Given the description of an element on the screen output the (x, y) to click on. 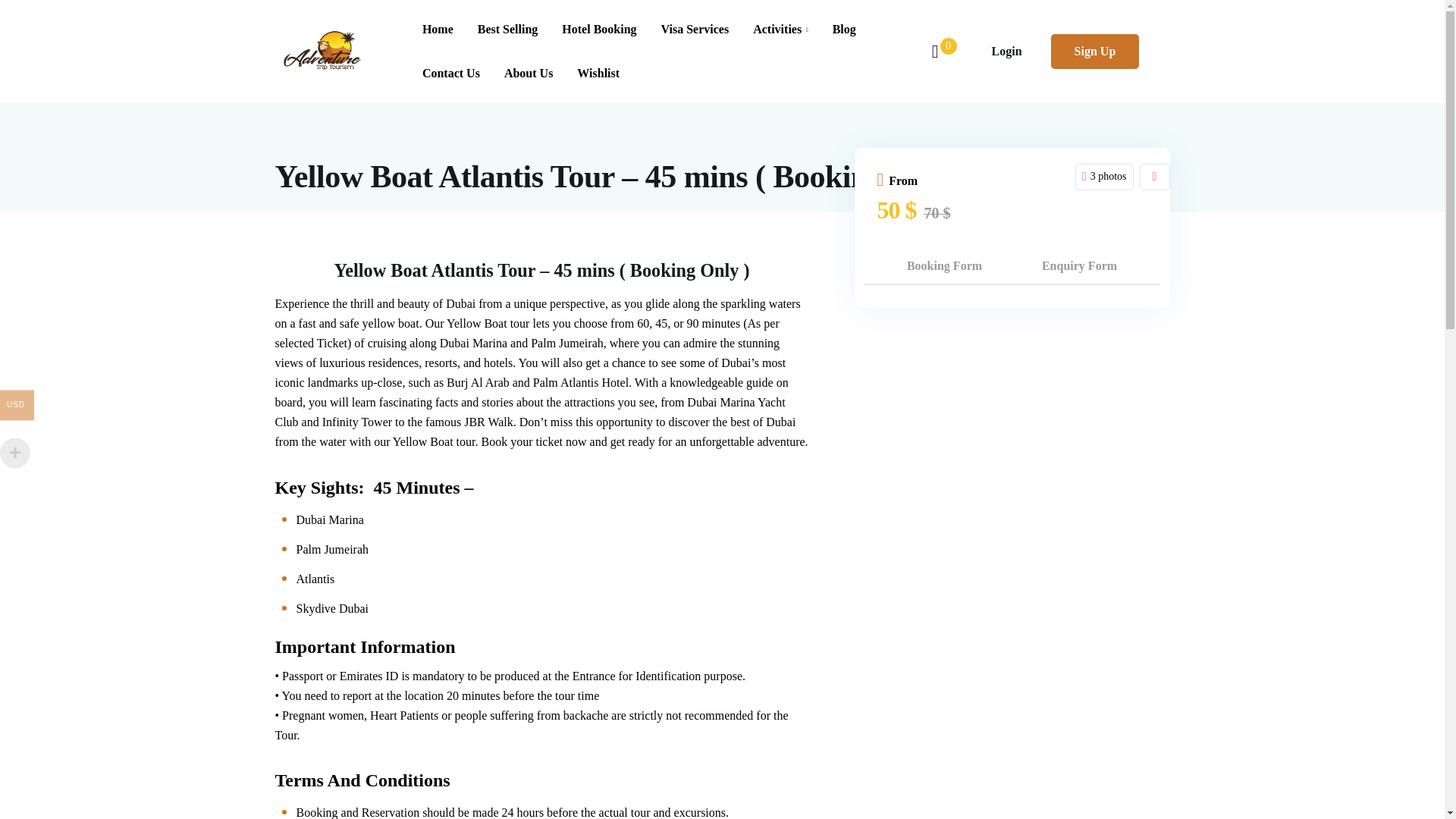
Blog (844, 29)
Hotel Booking (598, 29)
Visa Services (695, 29)
Contact Us (451, 73)
Wishlist (592, 73)
Activities (781, 29)
Best Selling (507, 29)
Login (1006, 50)
Home (437, 29)
Sign Up (1095, 50)
